Given the description of an element on the screen output the (x, y) to click on. 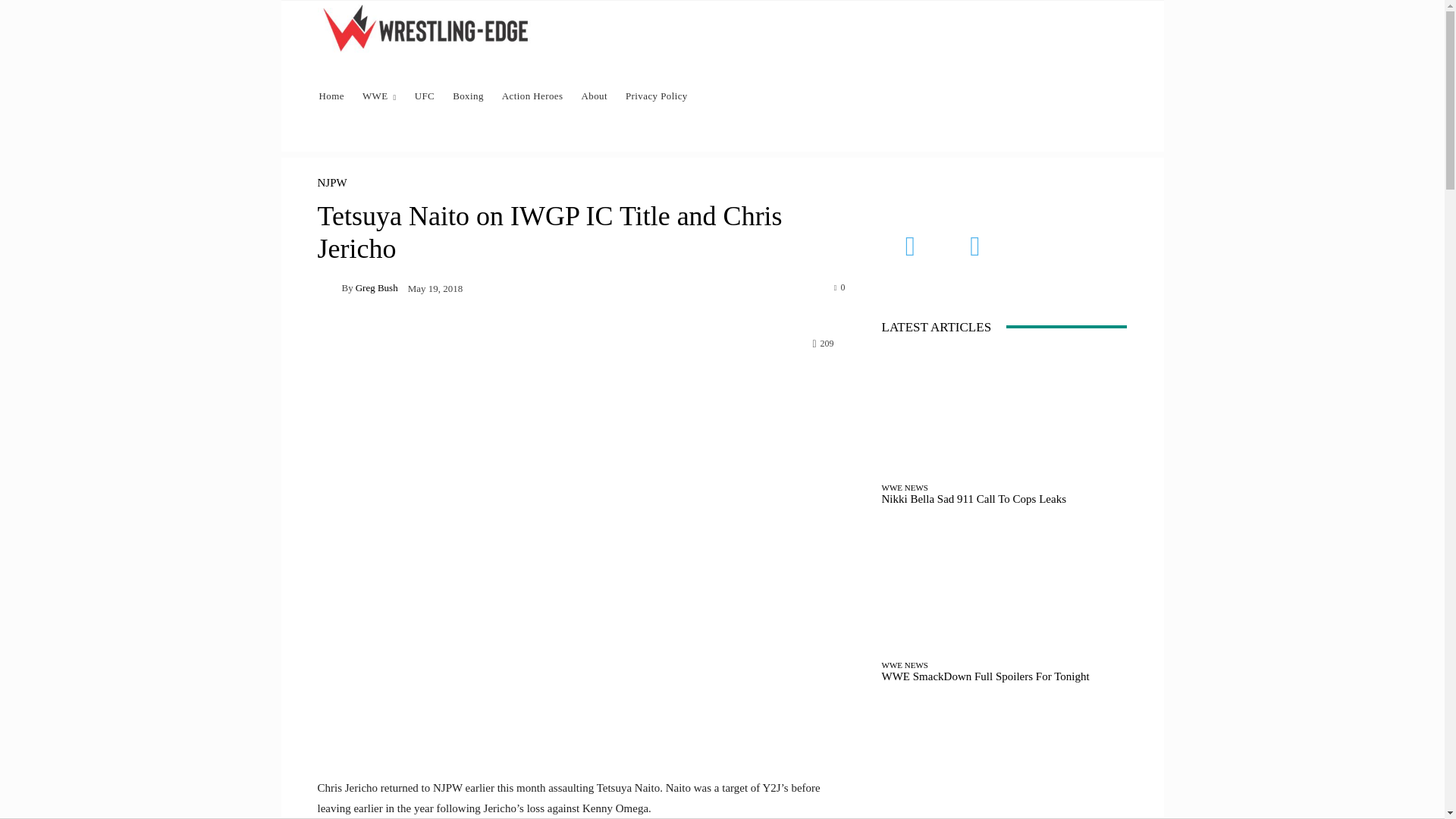
Greg Bush (328, 287)
WWE (379, 95)
Home (330, 95)
NJPW (331, 183)
UFC (425, 95)
Action Heroes (532, 95)
Greg Bush (376, 287)
Facebook (909, 246)
Boxing (468, 95)
About (593, 95)
